Given the description of an element on the screen output the (x, y) to click on. 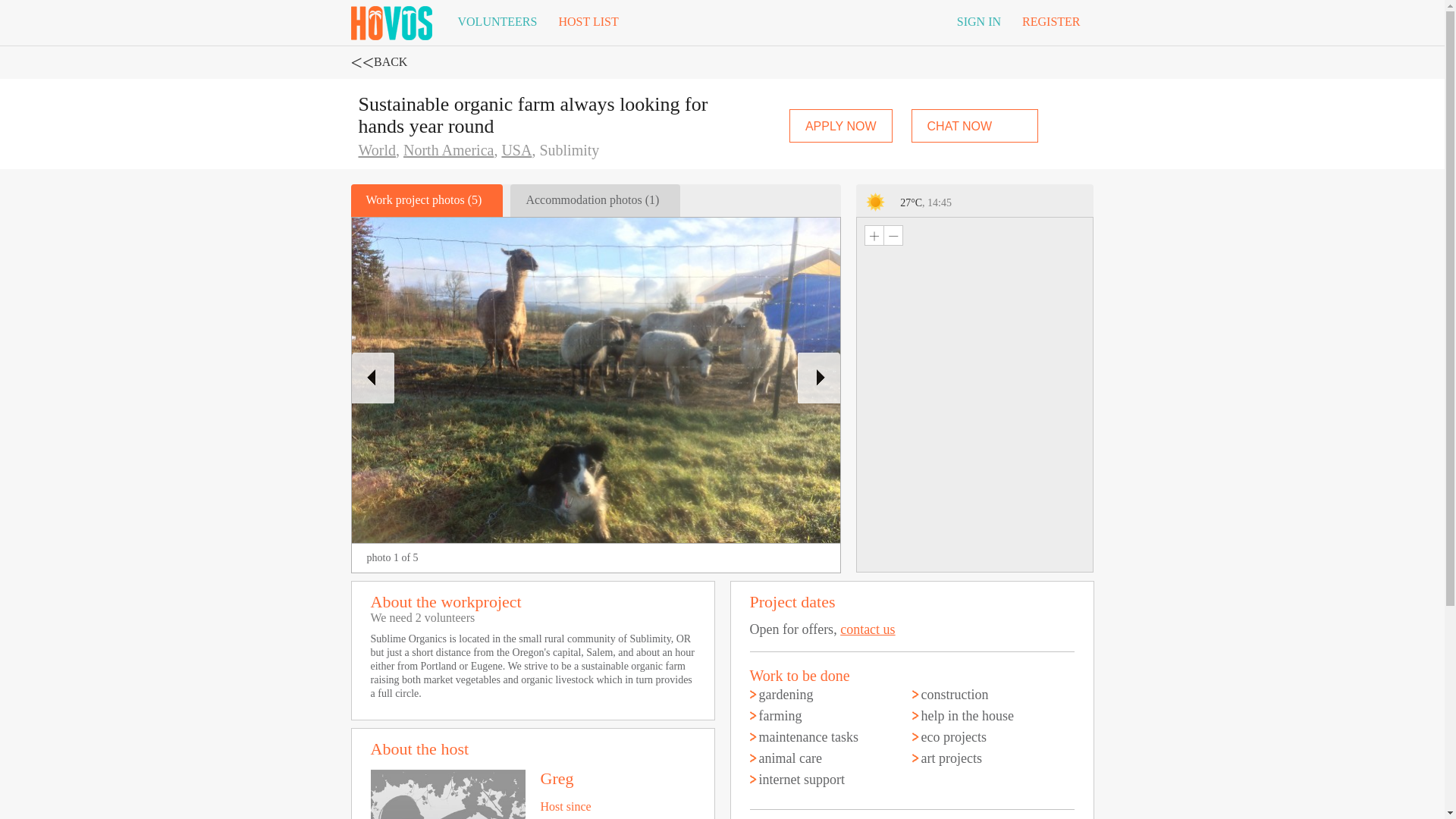
contact us (867, 629)
REGISTER (1050, 22)
North America (448, 149)
World (377, 149)
Hovos (390, 20)
APPLY NOW (840, 125)
HOST LIST (587, 22)
USA (515, 149)
SIGN IN (978, 22)
CHAT NOW (975, 125)
